Given the description of an element on the screen output the (x, y) to click on. 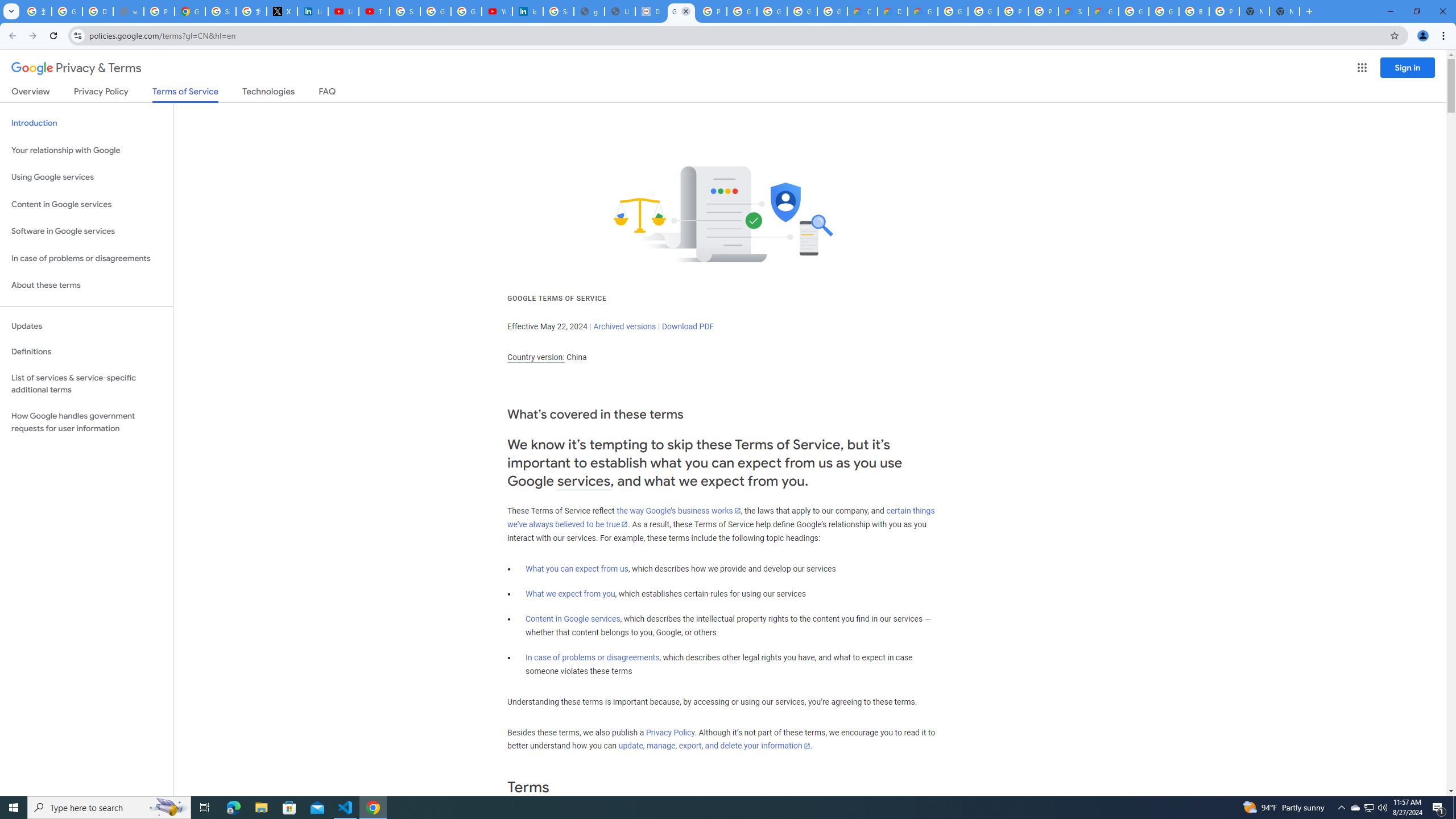
Google Cloud Platform (982, 11)
X (282, 11)
Using Google services (86, 176)
update, manage, export, and delete your information (714, 746)
Download PDF (687, 326)
New Tab (1283, 11)
List of services & service-specific additional terms (86, 383)
